Given the description of an element on the screen output the (x, y) to click on. 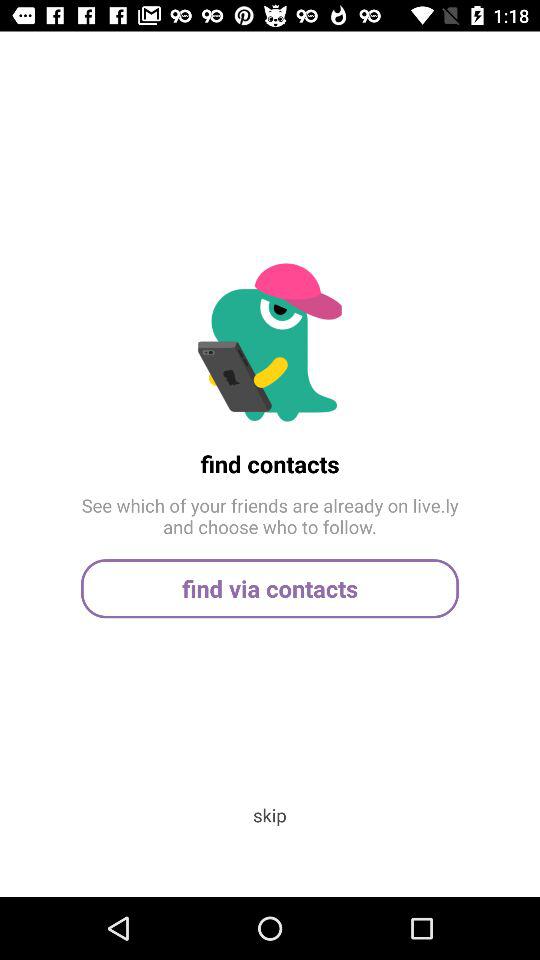
swipe to the skip app (269, 814)
